Given the description of an element on the screen output the (x, y) to click on. 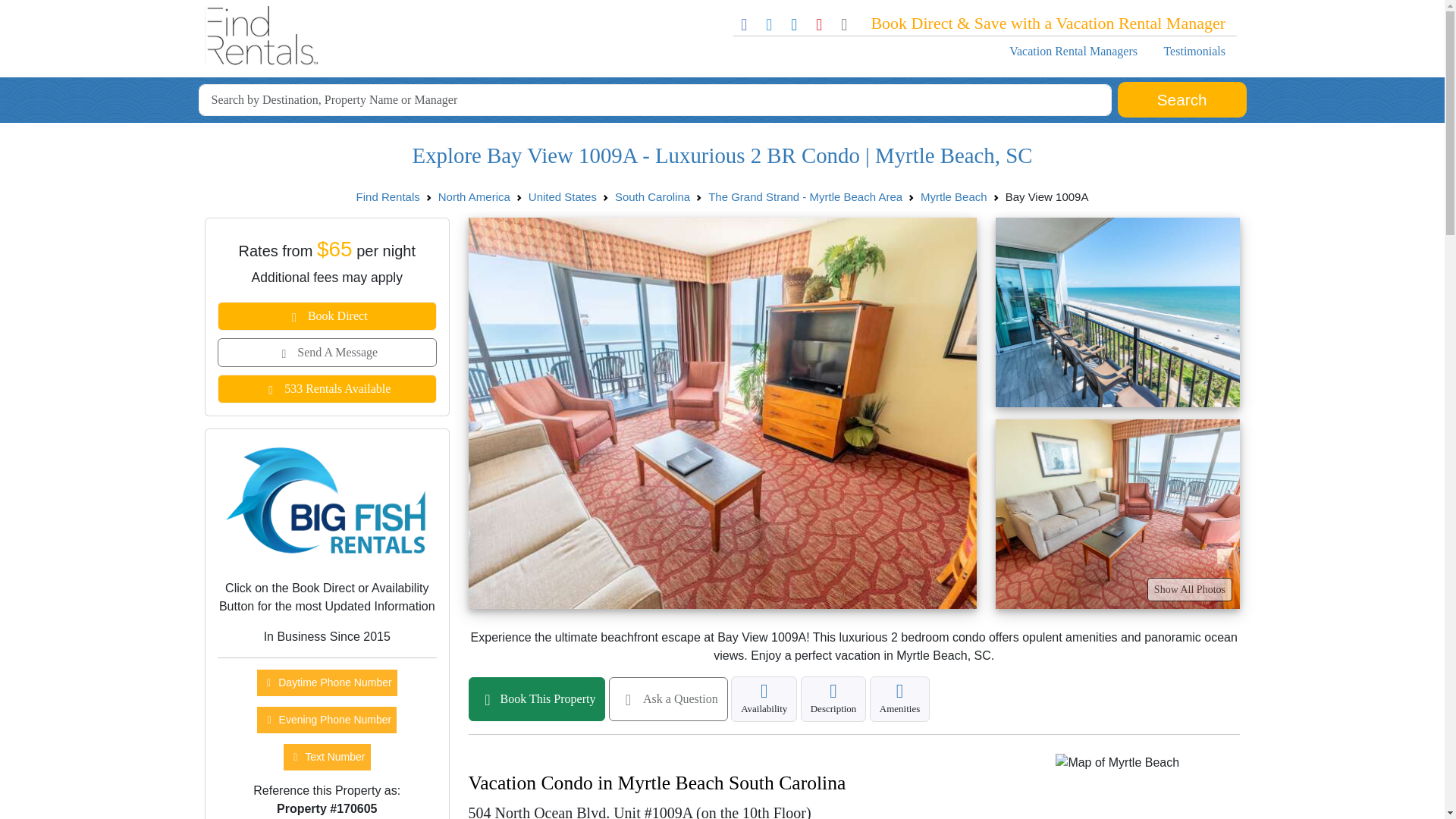
Amenities (899, 698)
Direct Oceanfront with Large Family Room (1116, 514)
Find Rentals (388, 196)
The Grand Strand - Myrtle Beach Area (804, 196)
United States (562, 196)
Vacation Rental Managers (1073, 51)
Show All Photos (1189, 589)
Availability (763, 698)
Search (1182, 99)
Book Direct (326, 316)
Myrtle Beach (953, 196)
South Carolina (652, 196)
Send A Message (326, 352)
Testimonials (1194, 51)
Description (833, 698)
